Given the description of an element on the screen output the (x, y) to click on. 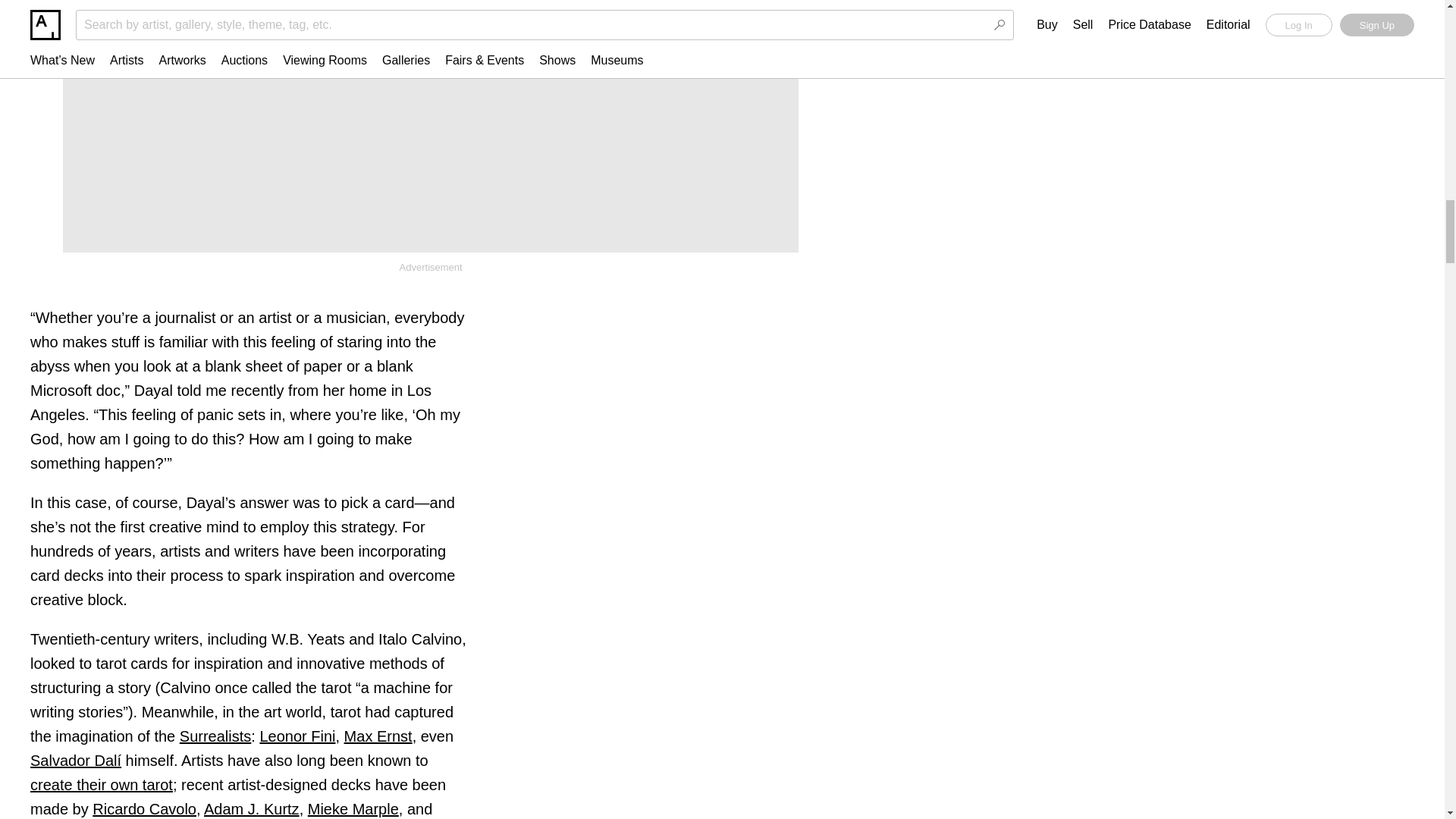
Leonor Fini (296, 736)
Max Ernst (377, 736)
create their own tarot (101, 784)
Surrealists (214, 736)
